Given the description of an element on the screen output the (x, y) to click on. 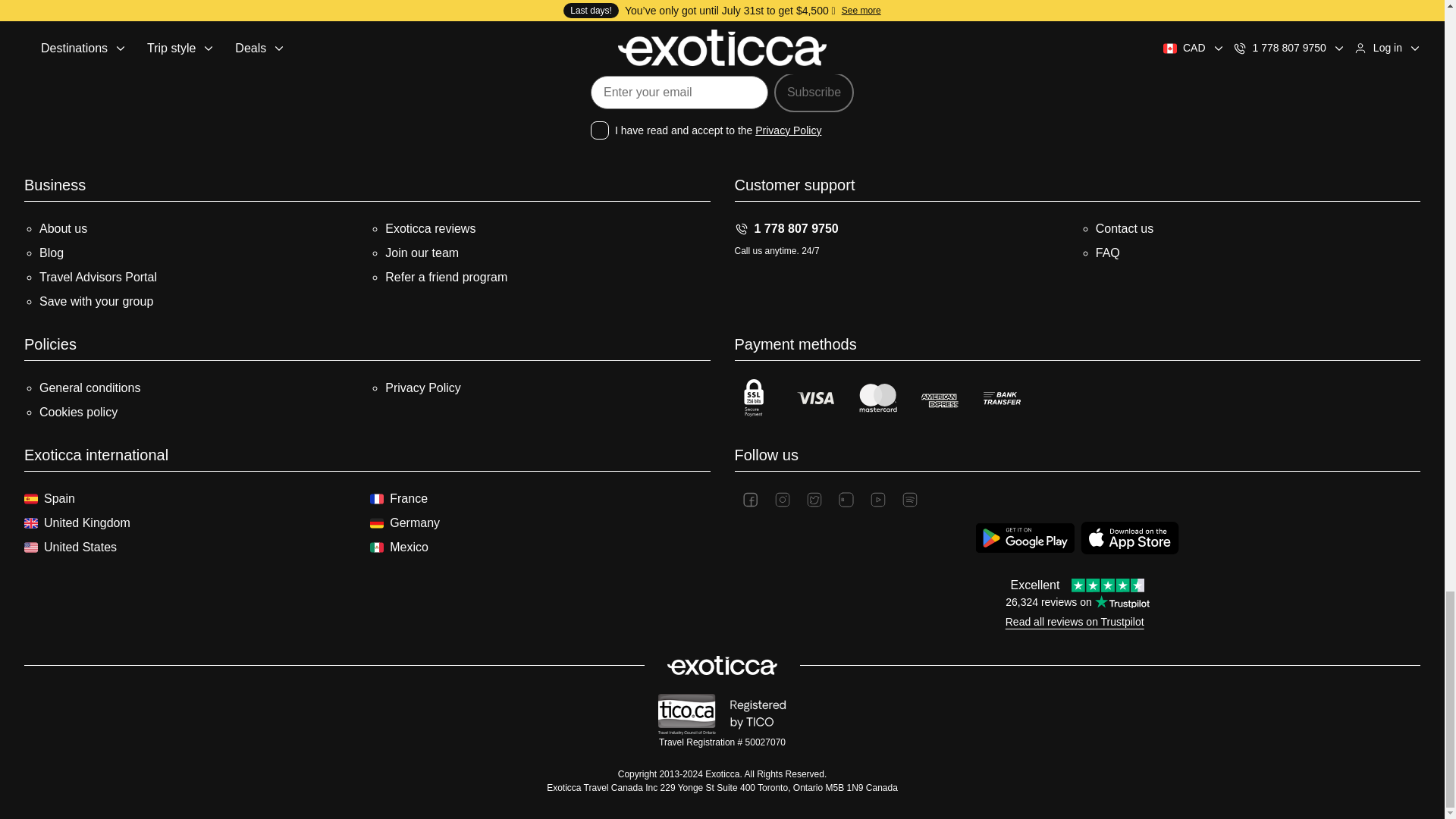
phone-call-icon (740, 228)
card-master-black-white-icon (877, 397)
check-icon (574, 53)
Customer reviews powered by Trustpilot (1078, 595)
check-icon (794, 53)
check-icon (693, 53)
ssl-en-white-icon (752, 397)
card-visa-black-white-icon (815, 397)
